Given the description of an element on the screen output the (x, y) to click on. 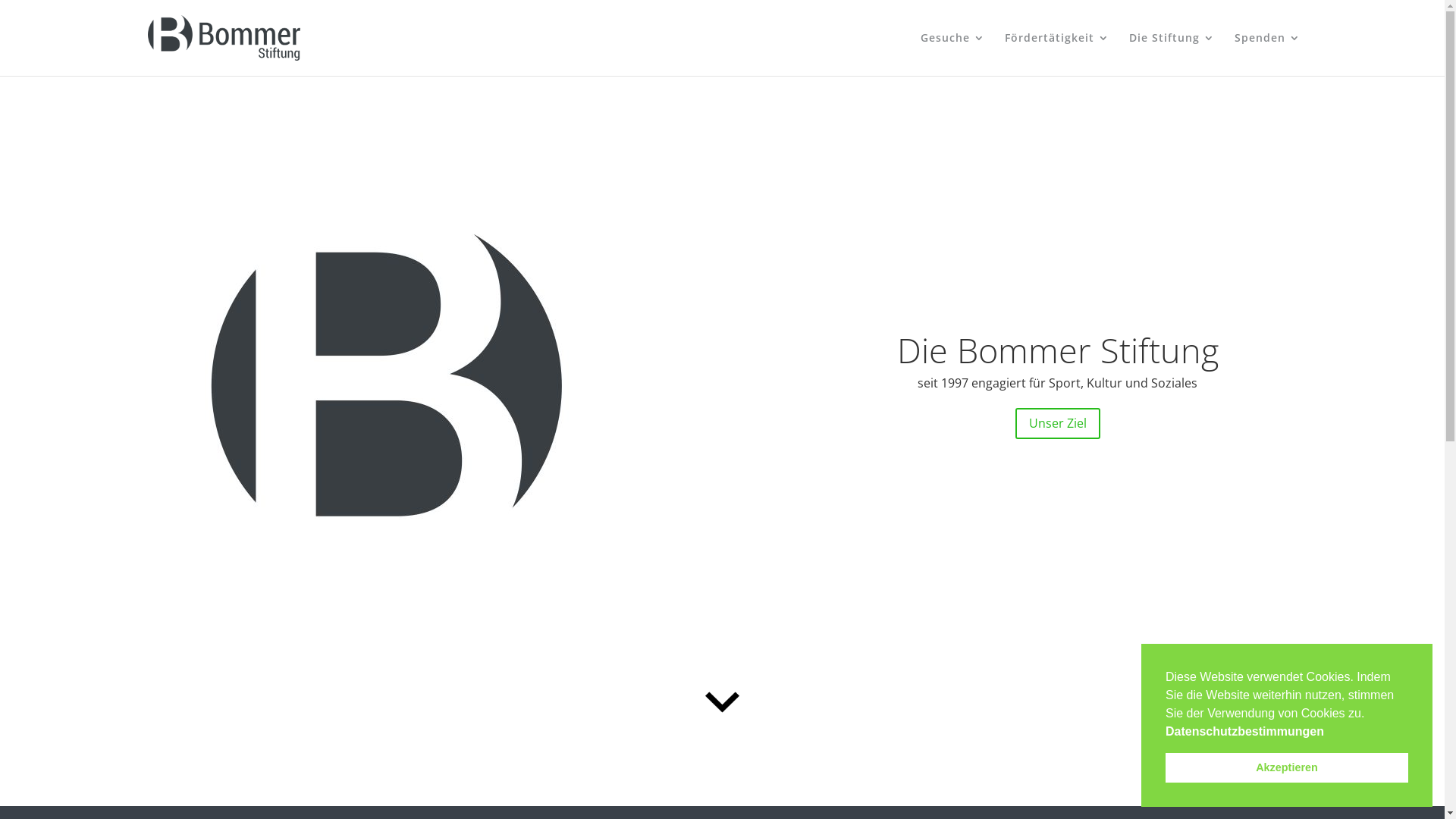
Die Bommer Stiftung Element type: text (1057, 349)
Akzeptieren Element type: text (1286, 767)
Spenden Element type: text (1267, 53)
Gesuche Element type: text (952, 53)
Unser Ziel Element type: text (1057, 423)
Die Stiftung Element type: text (1171, 53)
Datenschutzbestimmungen Element type: text (1244, 730)
